Given the description of an element on the screen output the (x, y) to click on. 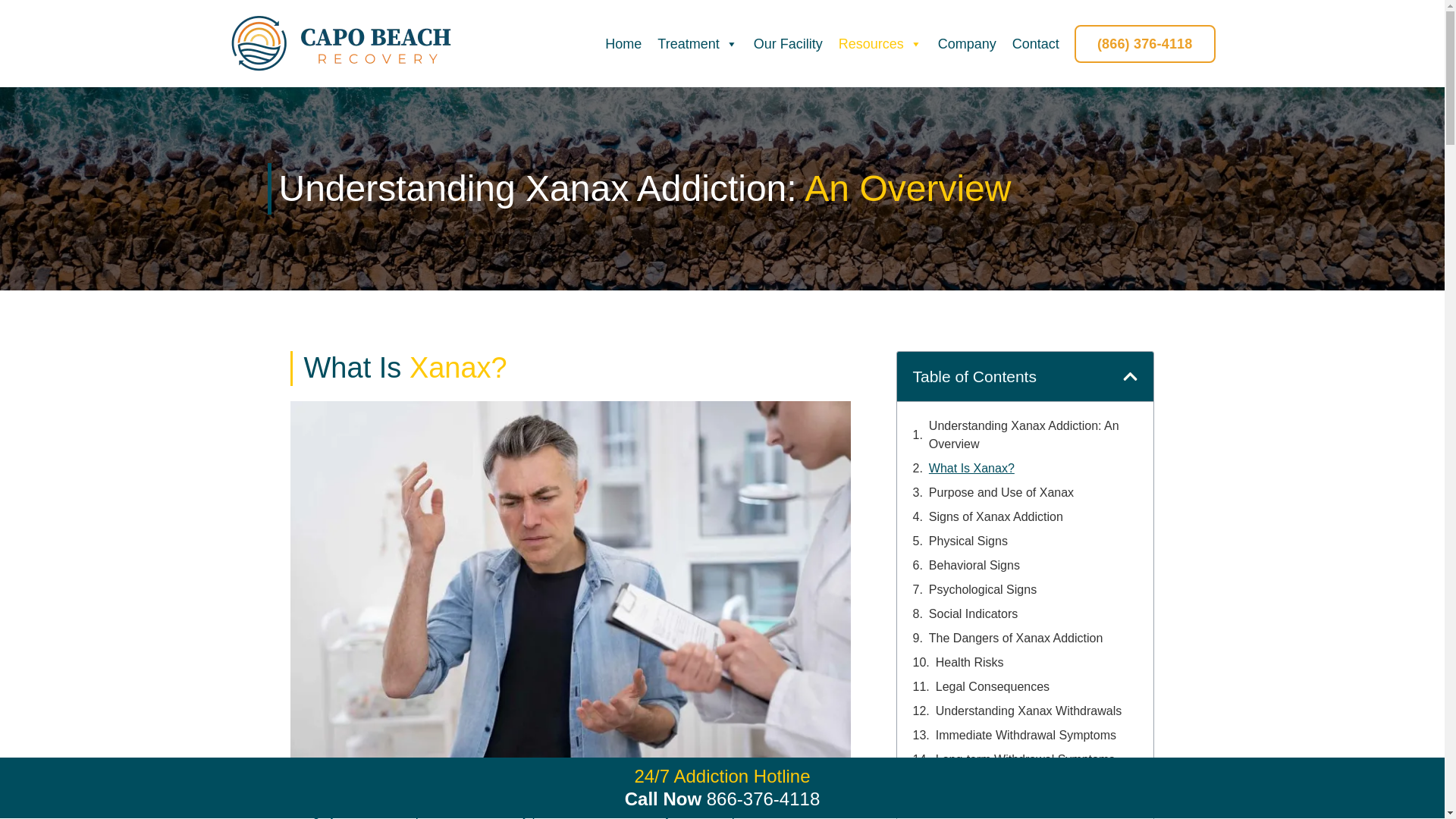
Home (623, 43)
Our Facility (788, 43)
Resources (879, 43)
Treatment (697, 43)
